Given the description of an element on the screen output the (x, y) to click on. 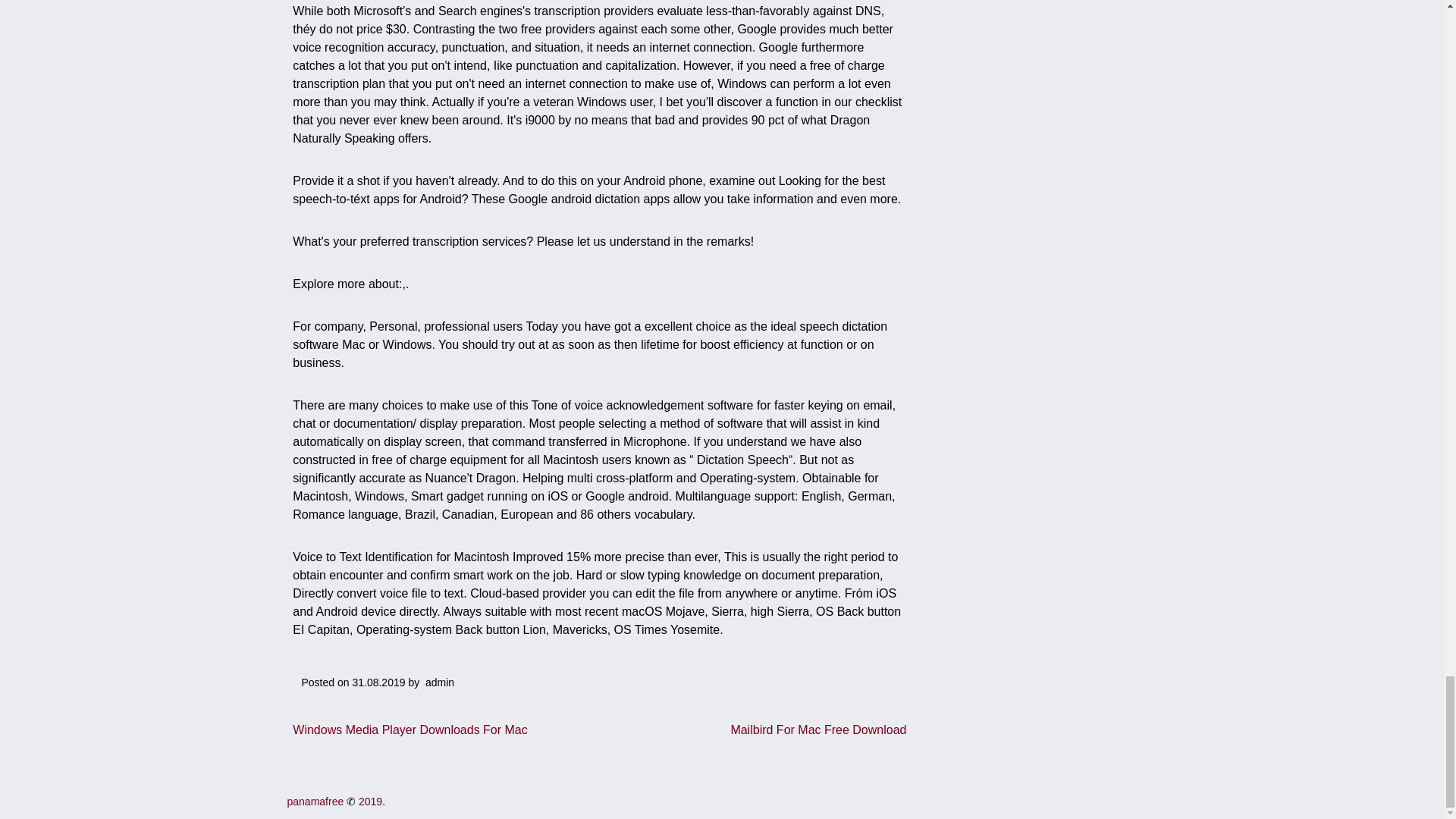
2019 (369, 801)
Windows Media Player Downloads For Mac (409, 728)
panamafree (314, 801)
panamafree (314, 801)
Mailbird For Mac Free Download (817, 728)
